Given the description of an element on the screen output the (x, y) to click on. 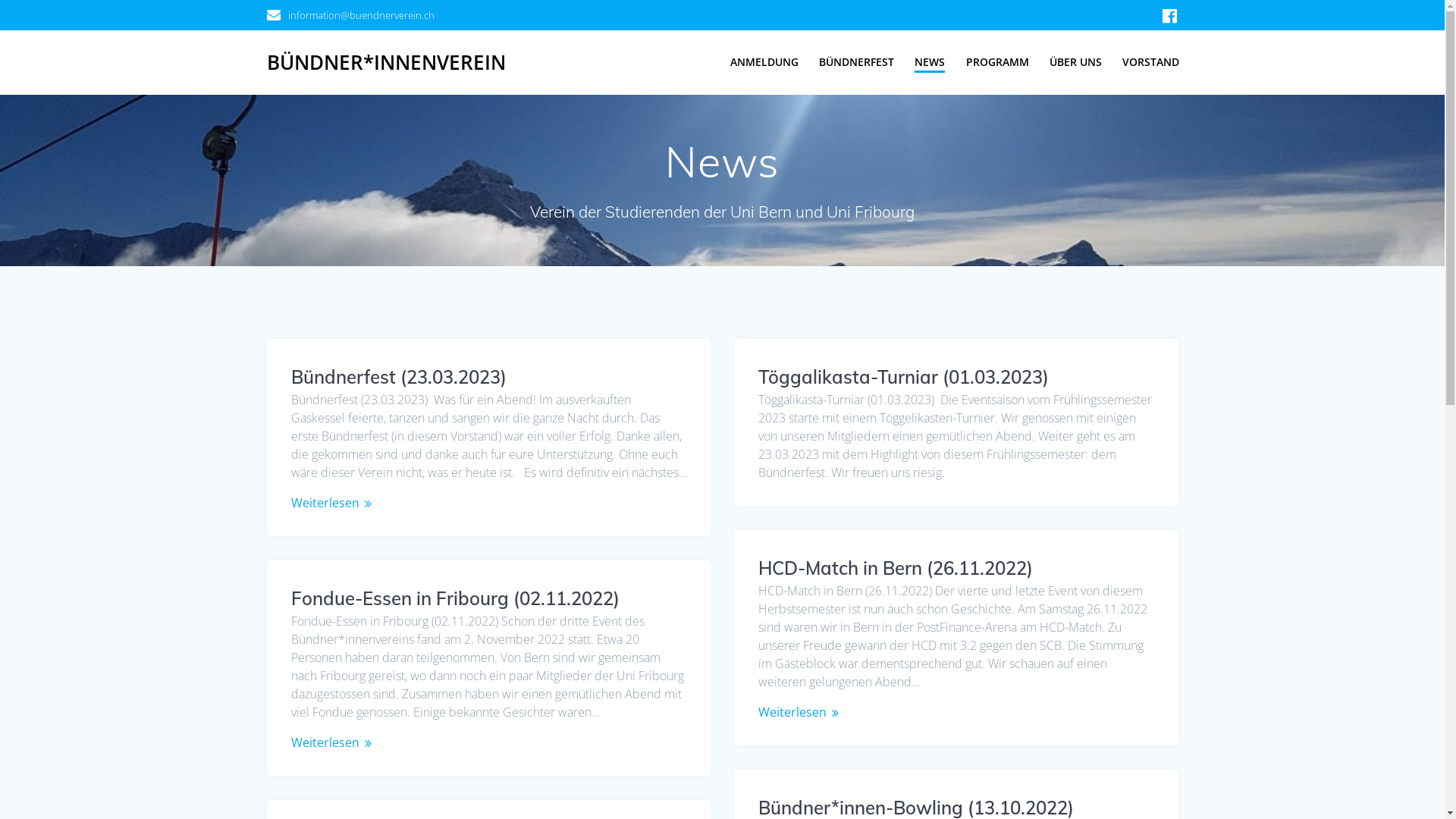
Weiterlesen Element type: text (325, 502)
NEWS Element type: text (929, 62)
Weiterlesen Element type: text (792, 711)
Weiterlesen Element type: text (325, 742)
ANMELDUNG Element type: text (764, 61)
VORSTAND Element type: text (1150, 61)
HCD-Match in Bern (26.11.2022) Element type: text (895, 567)
PROGRAMM Element type: text (997, 61)
Fondue-Essen in Fribourg (02.11.2022) Element type: text (455, 597)
